Given the description of an element on the screen output the (x, y) to click on. 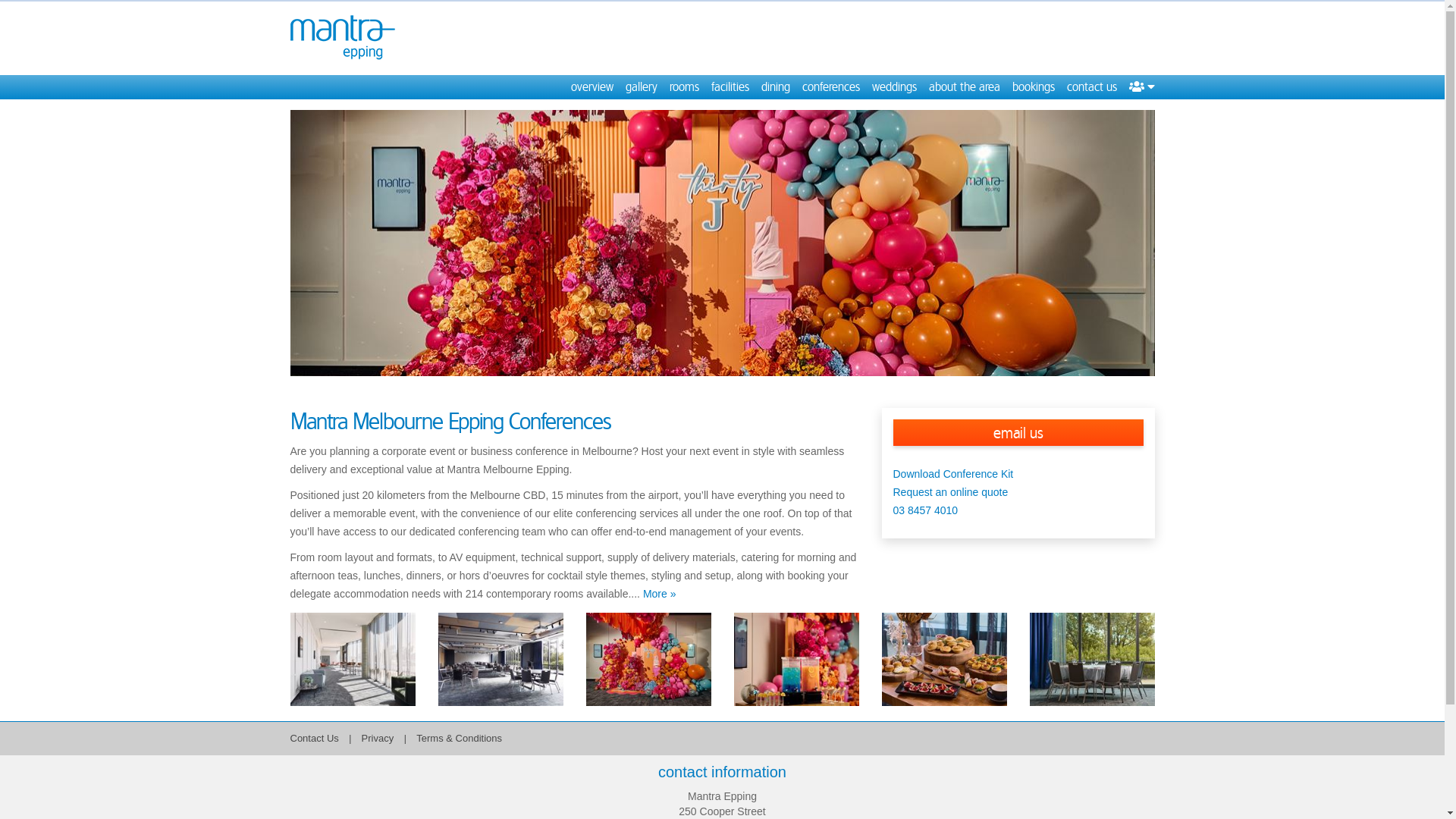
Mantra Epping - Ballroom Element type: hover (500, 659)
Privacy Element type: text (378, 737)
gallery Element type: text (640, 87)
Mantra Epping - Conference Facilities  Element type: hover (647, 659)
rooms Element type: text (683, 87)
bookings Element type: text (1032, 87)
Mantra Epping - Conference Facilities  Element type: hover (1091, 659)
Request an online quote Element type: text (953, 501)
facilities Element type: text (730, 87)
overview Element type: text (591, 87)
Mantra Epping - Conference - Food & Drink Element type: hover (796, 659)
Mantra Epping - Conference Facilities  Element type: hover (721, 242)
03 8457 4010 Element type: text (925, 510)
dining Element type: text (775, 87)
conferences Element type: text (830, 87)
Mantra Epping Element type: hover (346, 37)
Contact Us Element type: text (313, 737)
weddings Element type: text (894, 87)
about the area Element type: text (963, 87)
Terms & Conditions Element type: text (459, 737)
contact us Element type: text (1091, 87)
Download Conference Kit Element type: text (953, 473)
email us Element type: text (1018, 432)
Mantra Epping - Pre-event Space Element type: hover (351, 659)
Mantra Epping - Conference - Food & Drink Element type: hover (943, 659)
